Given the description of an element on the screen output the (x, y) to click on. 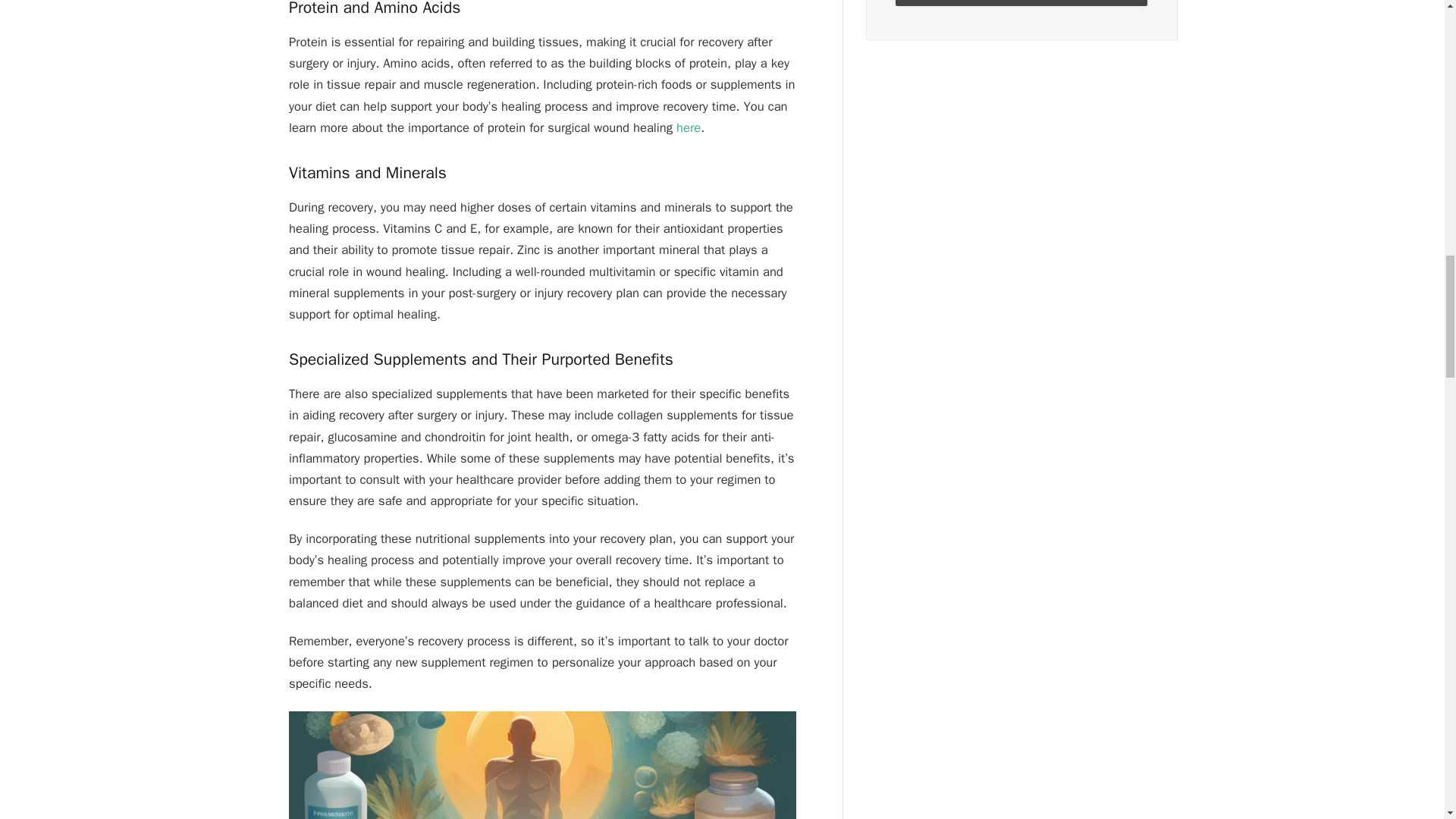
Subscribe (1021, 2)
